Given the description of an element on the screen output the (x, y) to click on. 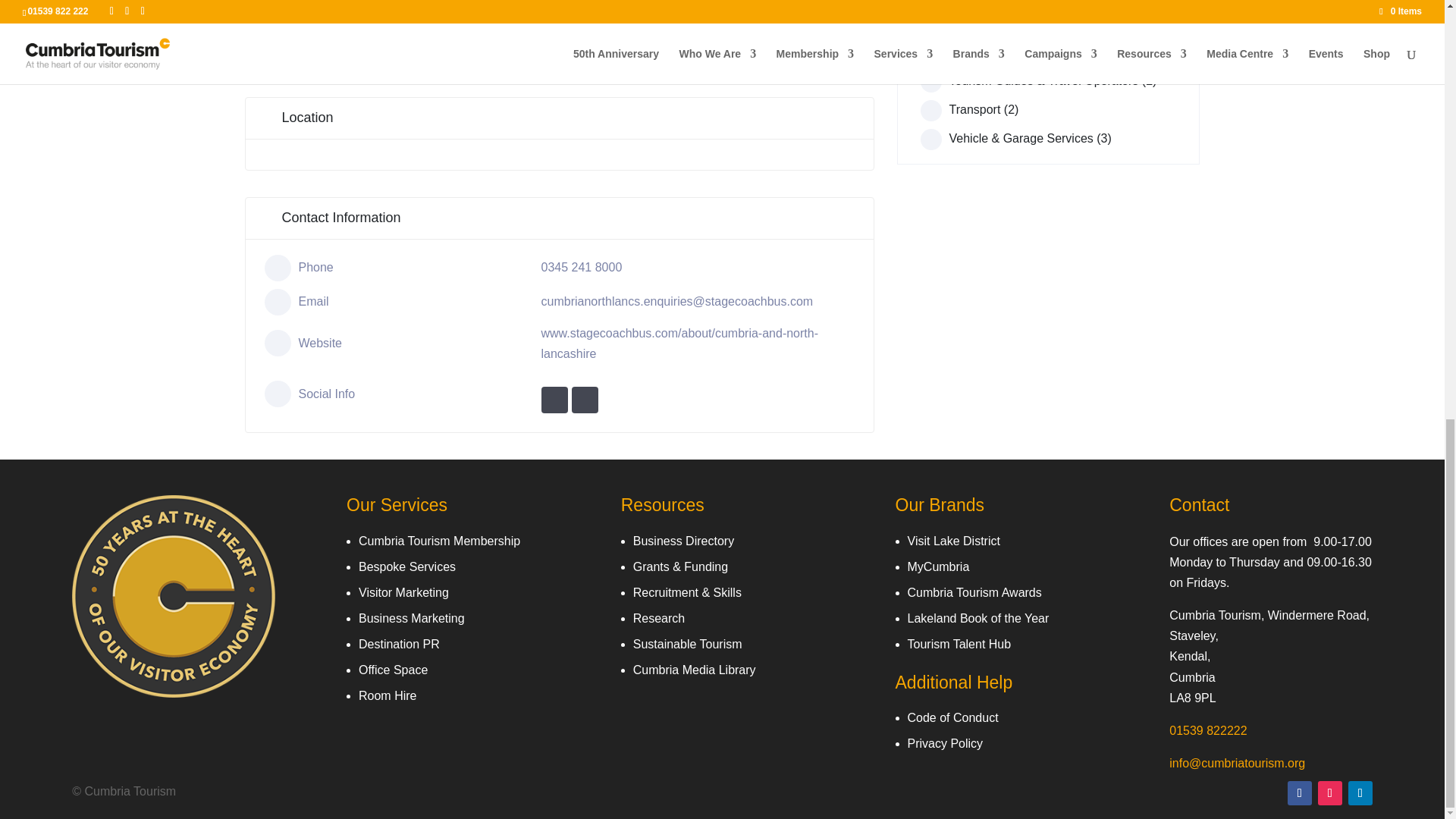
50 years of Cumbria Tourism - 1974 - 2024 (173, 596)
Follow on Instagram (1329, 793)
Follow on Facebook (1299, 793)
Follow on LinkedIn (1360, 793)
